Given the description of an element on the screen output the (x, y) to click on. 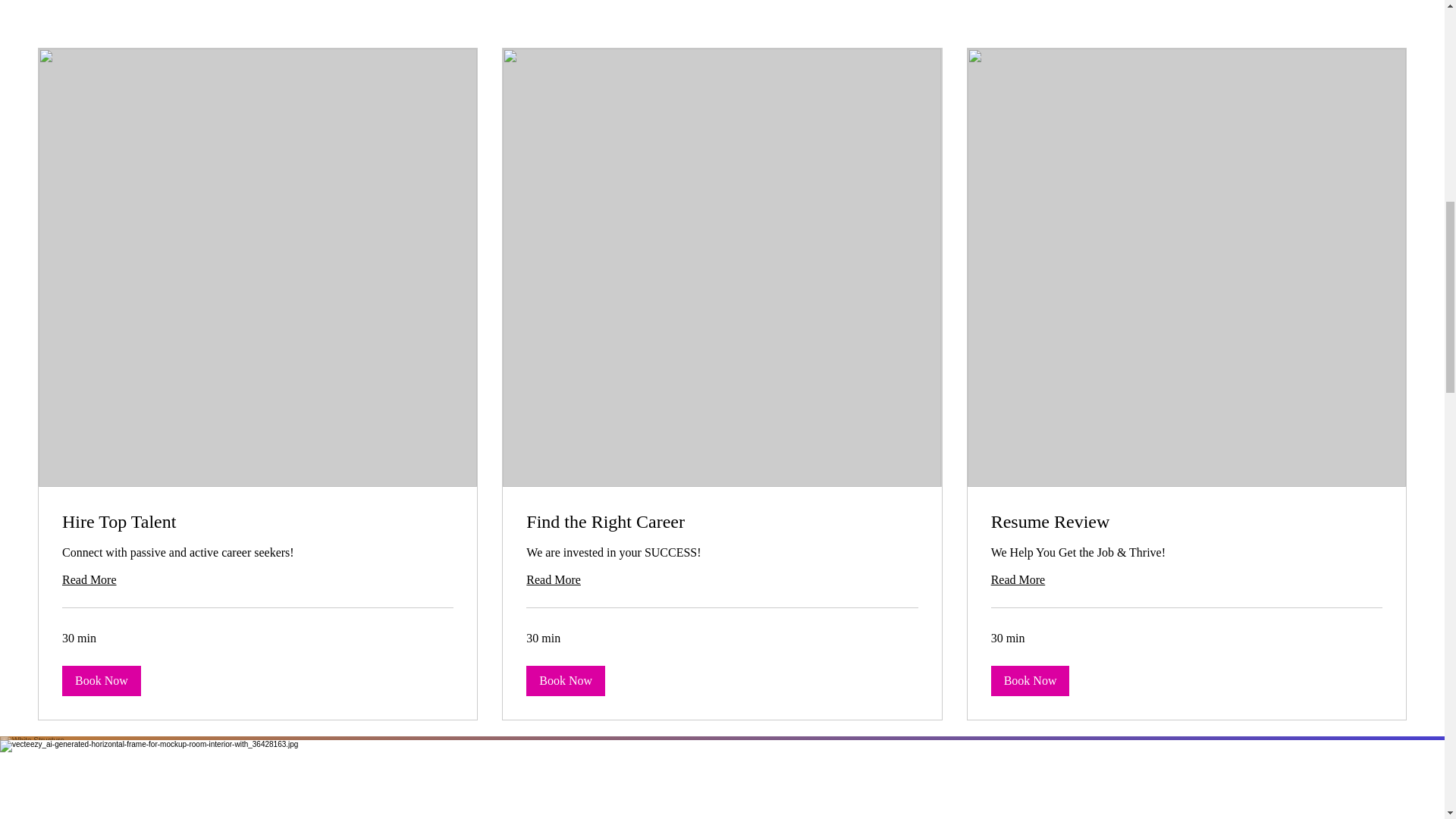
Find the Right Career (721, 522)
Resume Review (1186, 522)
Read More (1186, 579)
Book Now (101, 680)
Read More (721, 579)
Book Now (1030, 680)
Hire Top Talent (257, 522)
Book Now (565, 680)
Read More (257, 579)
